Given the description of an element on the screen output the (x, y) to click on. 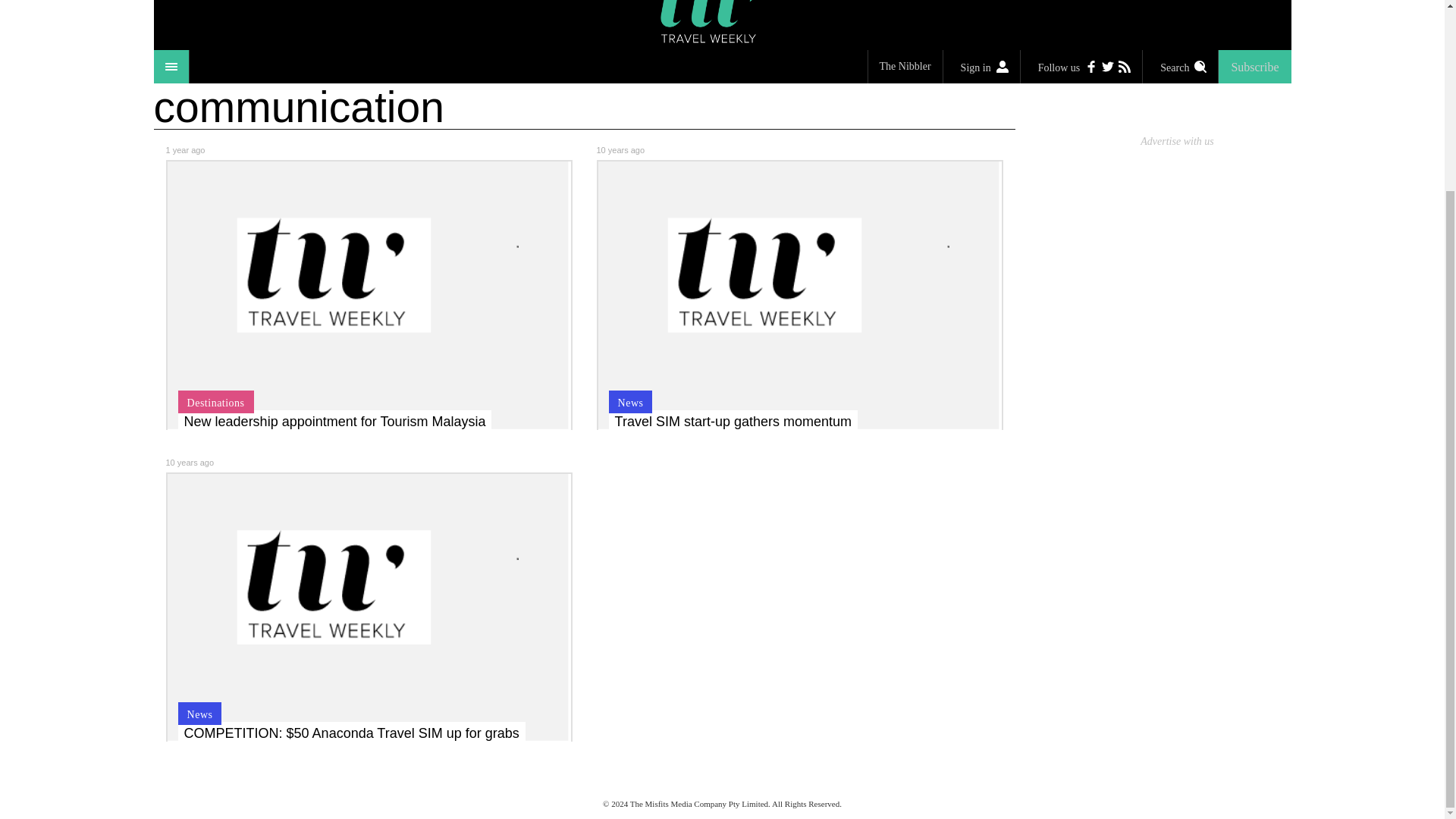
New leadership appointment for Tourism Malaysia (334, 421)
Search (1179, 66)
Sign in (981, 66)
Subscribe (1254, 66)
The Nibbler (904, 66)
Follow us (1081, 66)
